Given the description of an element on the screen output the (x, y) to click on. 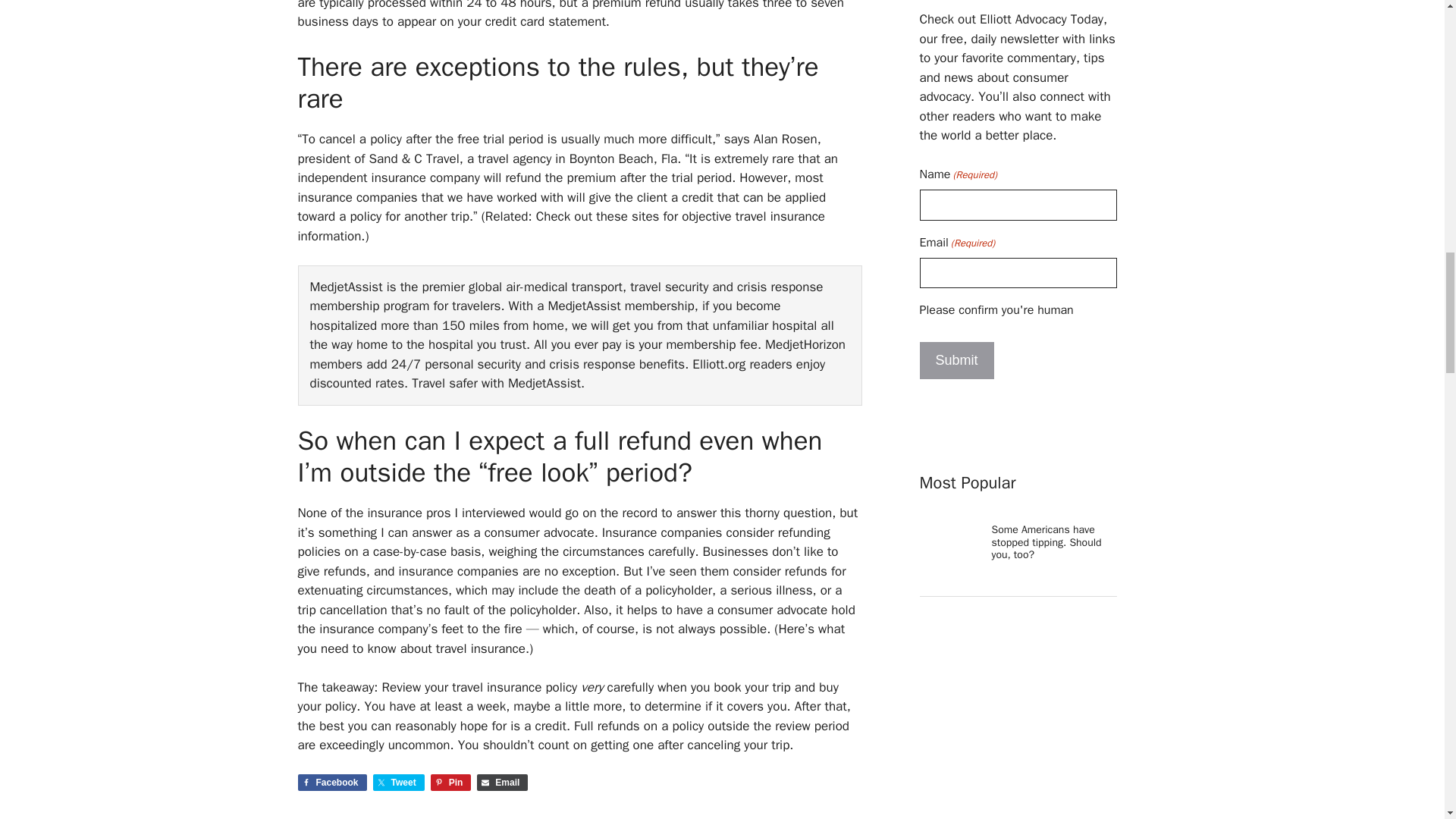
Share on Pinterest (450, 782)
Share on Twitter (398, 782)
Submit (955, 360)
Share on Facebook (331, 782)
Share via Email (502, 782)
Email (502, 782)
